Given the description of an element on the screen output the (x, y) to click on. 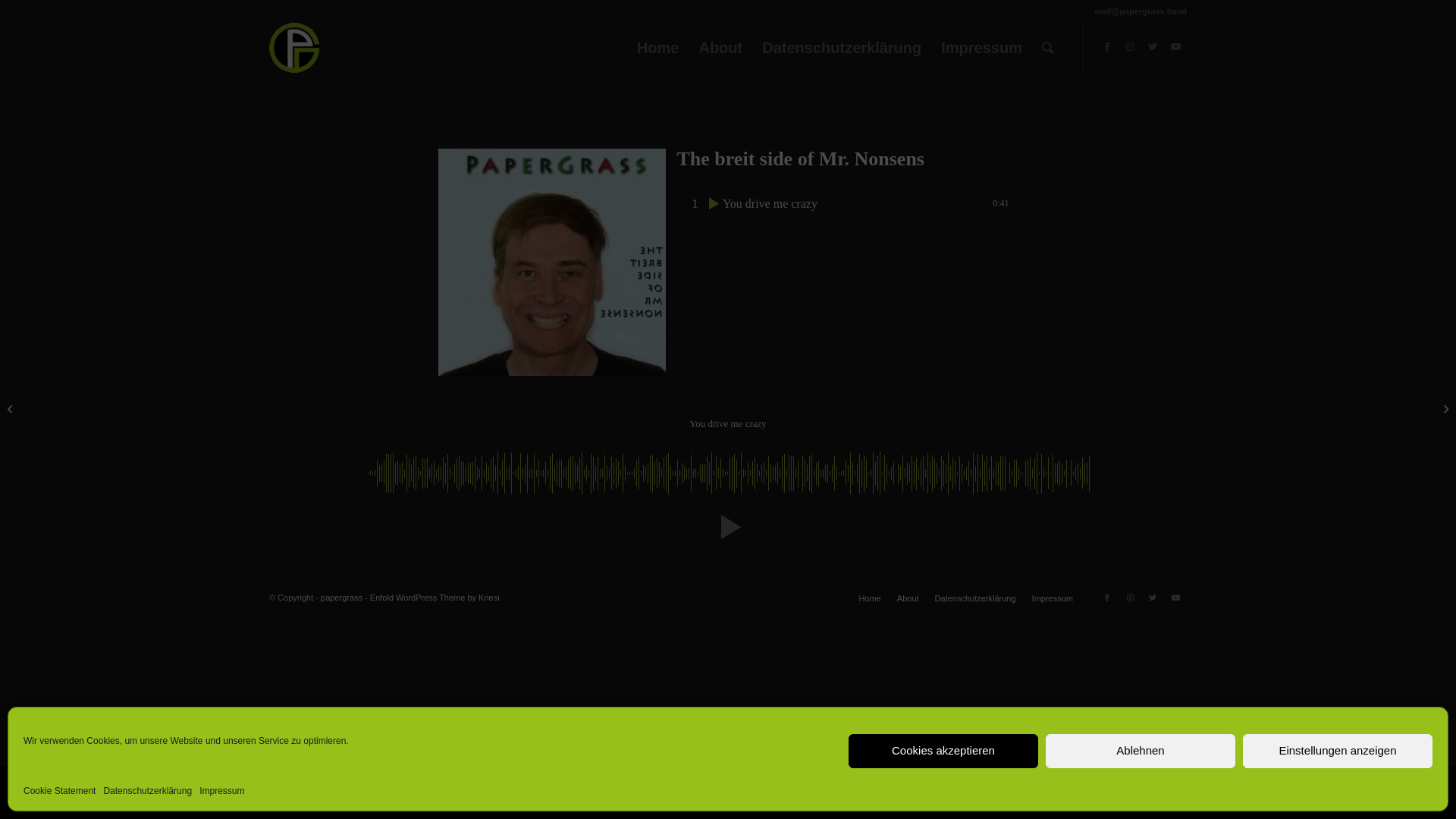
Einstellungen akzeptieren Element type: text (844, 792)
Youtube Element type: hover (1175, 46)
Twitter Element type: hover (1152, 46)
Home Element type: text (869, 597)
Home Element type: text (658, 47)
Instagram Element type: hover (1129, 46)
About Element type: text (908, 597)
Einstellungen anzeigen Element type: text (1337, 751)
Impressum Element type: text (221, 791)
Twitter Element type: hover (1152, 597)
Instagram Element type: hover (1129, 597)
Facebook Element type: hover (1106, 46)
Facebook Element type: hover (1106, 597)
Cookie Statement Element type: text (59, 791)
Einstellungen Element type: text (1139, 792)
Youtube Element type: hover (1175, 597)
Enfold WordPress Theme by Kriesi Element type: text (434, 597)
1
You drive me crazy
0:41 Element type: text (842, 203)
Impressum Element type: text (981, 47)
Verberge nur die Benachrichtigung Element type: text (1005, 792)
Cookies akzeptieren Element type: text (943, 751)
About Element type: text (720, 47)
Impressum Element type: text (1052, 597)
papergrass Element type: text (341, 597)
Ablehnen Element type: text (1140, 751)
